Given the description of an element on the screen output the (x, y) to click on. 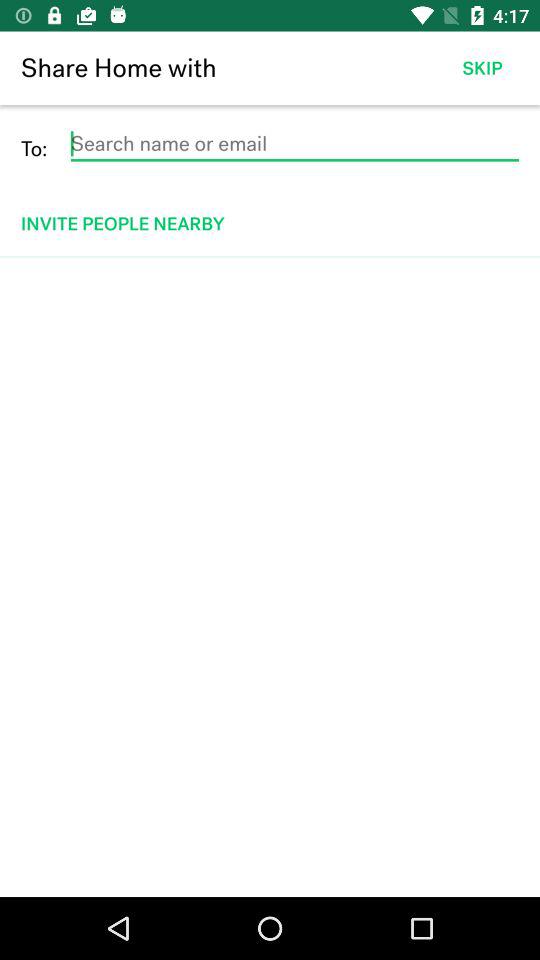
search text field (294, 144)
